Given the description of an element on the screen output the (x, y) to click on. 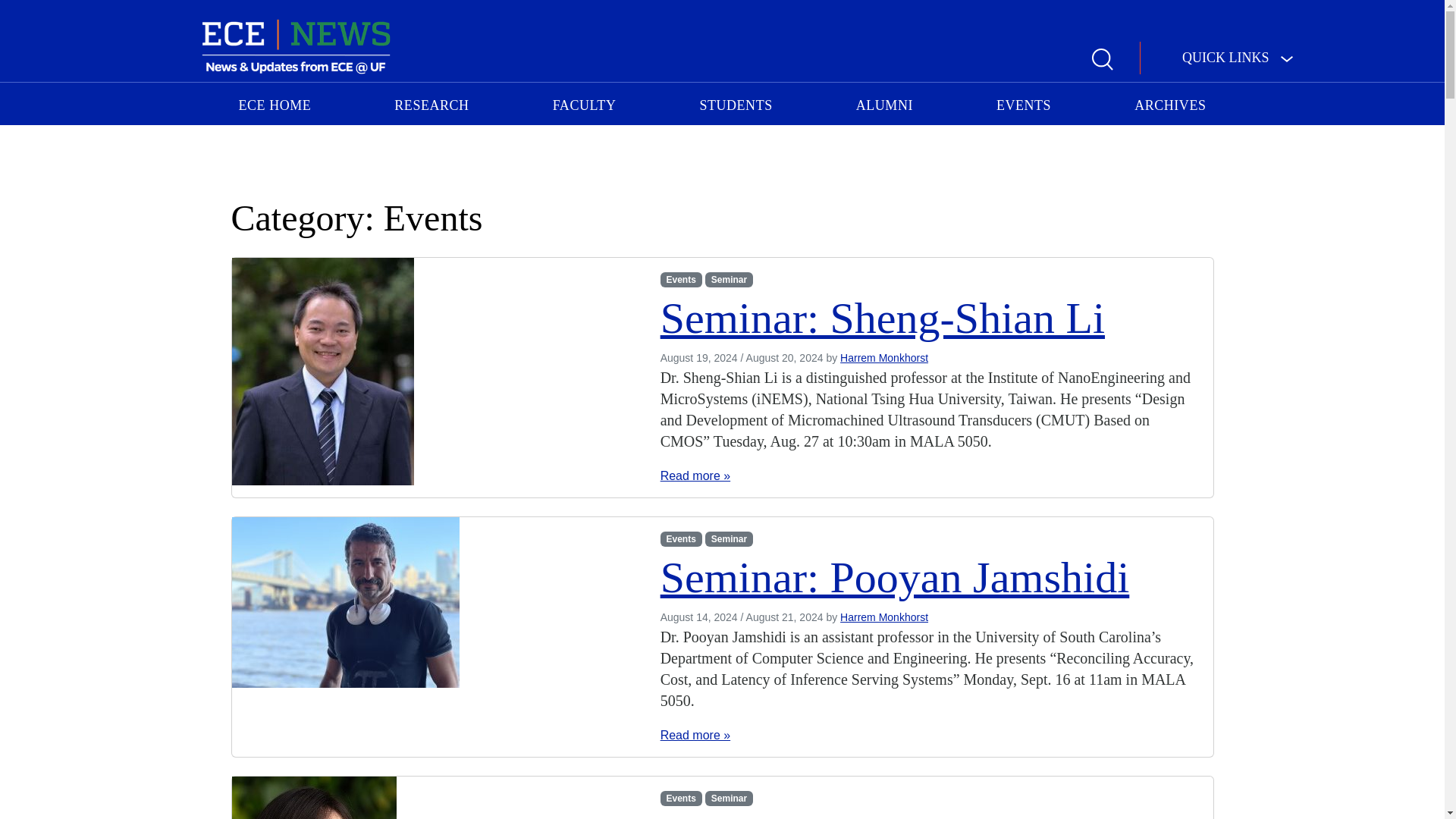
Harrem Monkhorst (884, 616)
EVENTS (1023, 102)
Seminar (728, 798)
RESEARCH (431, 102)
ALUMNI (884, 102)
Events (681, 279)
Seminar (728, 279)
